Given the description of an element on the screen output the (x, y) to click on. 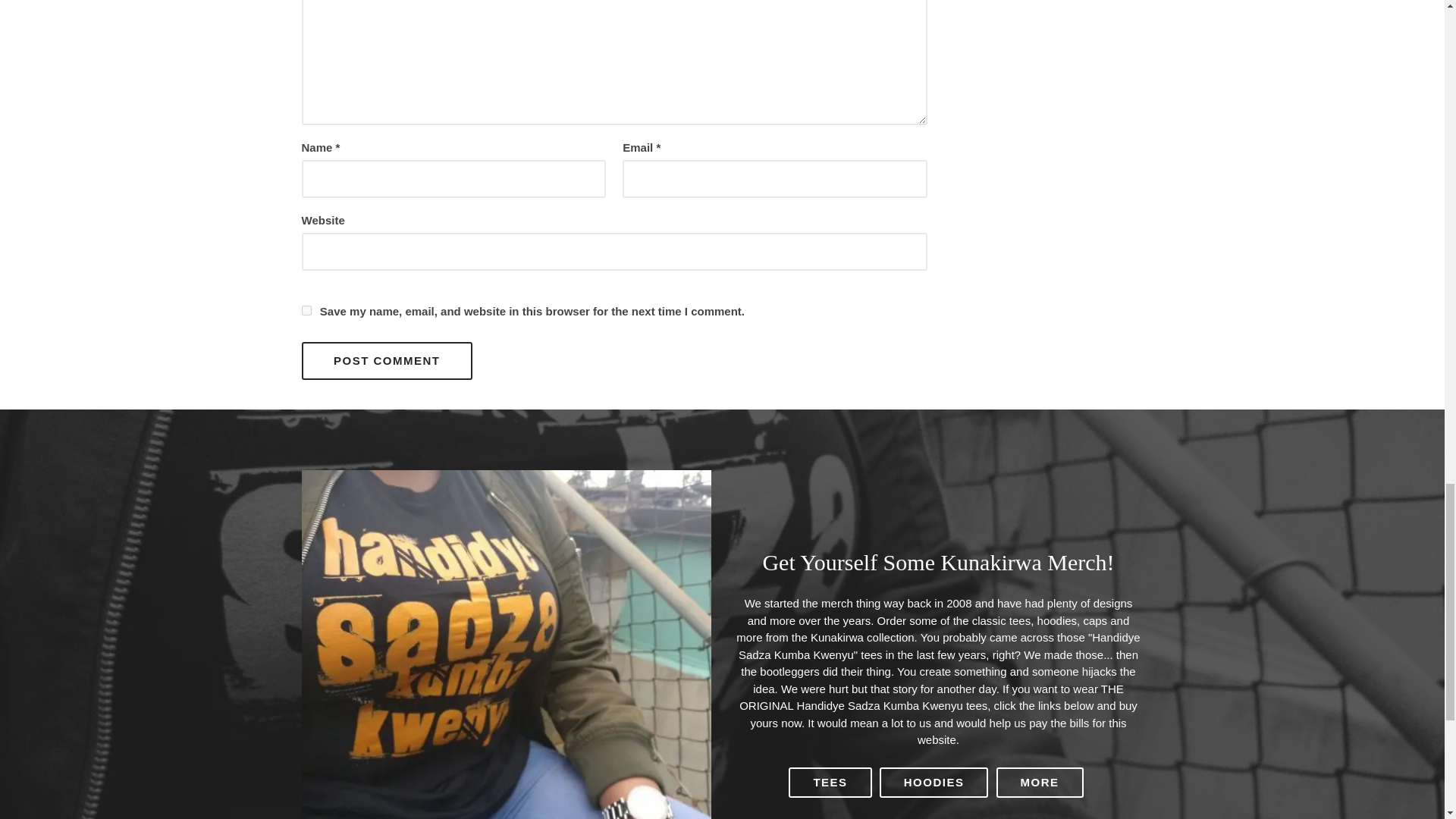
Post Comment (387, 361)
Post Comment (387, 361)
yes (306, 310)
